Given the description of an element on the screen output the (x, y) to click on. 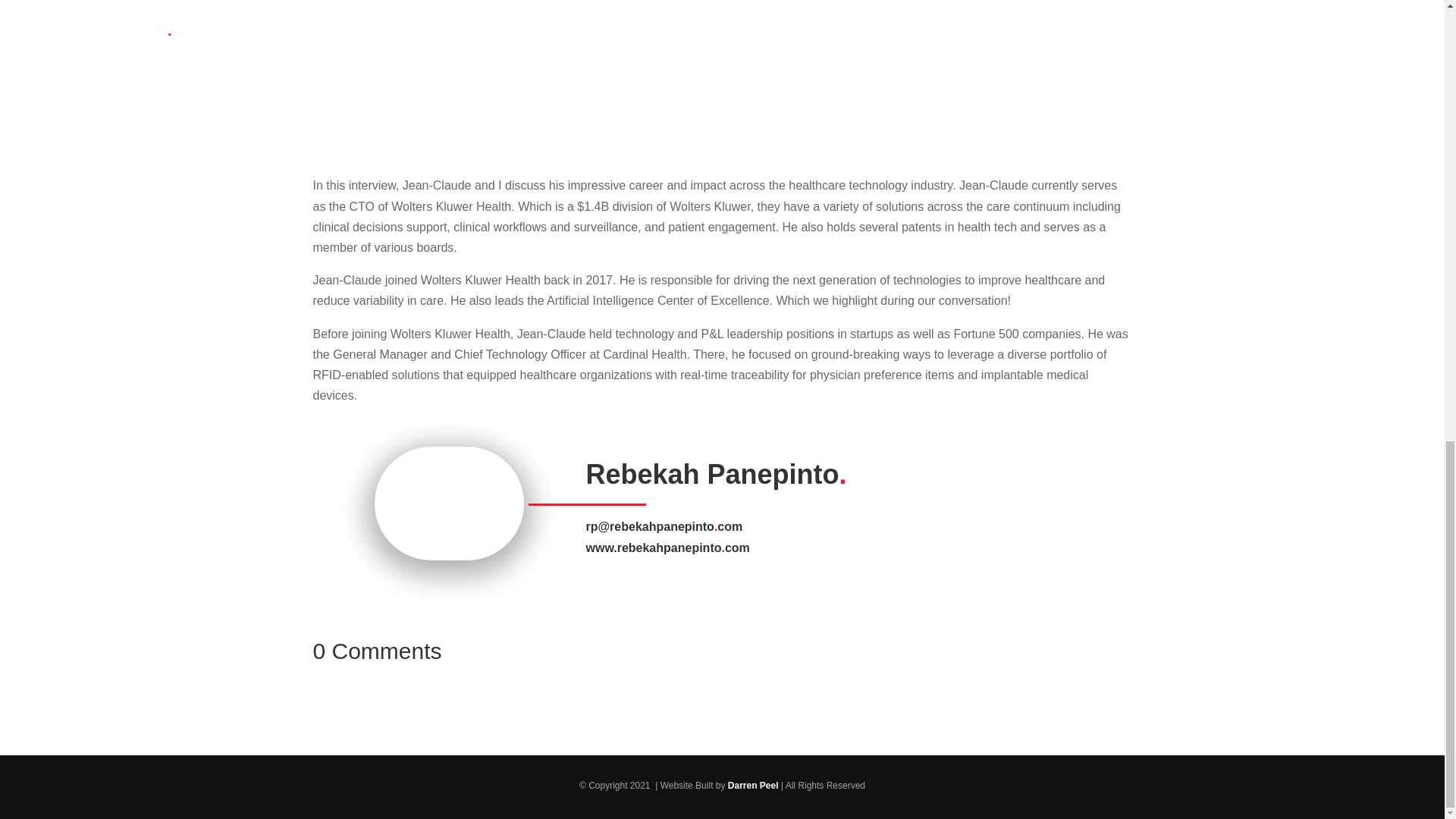
E0C46E48-DAAA-450E-9343-CE01A643951F copy (449, 503)
Darren Peel (753, 785)
